Given the description of an element on the screen output the (x, y) to click on. 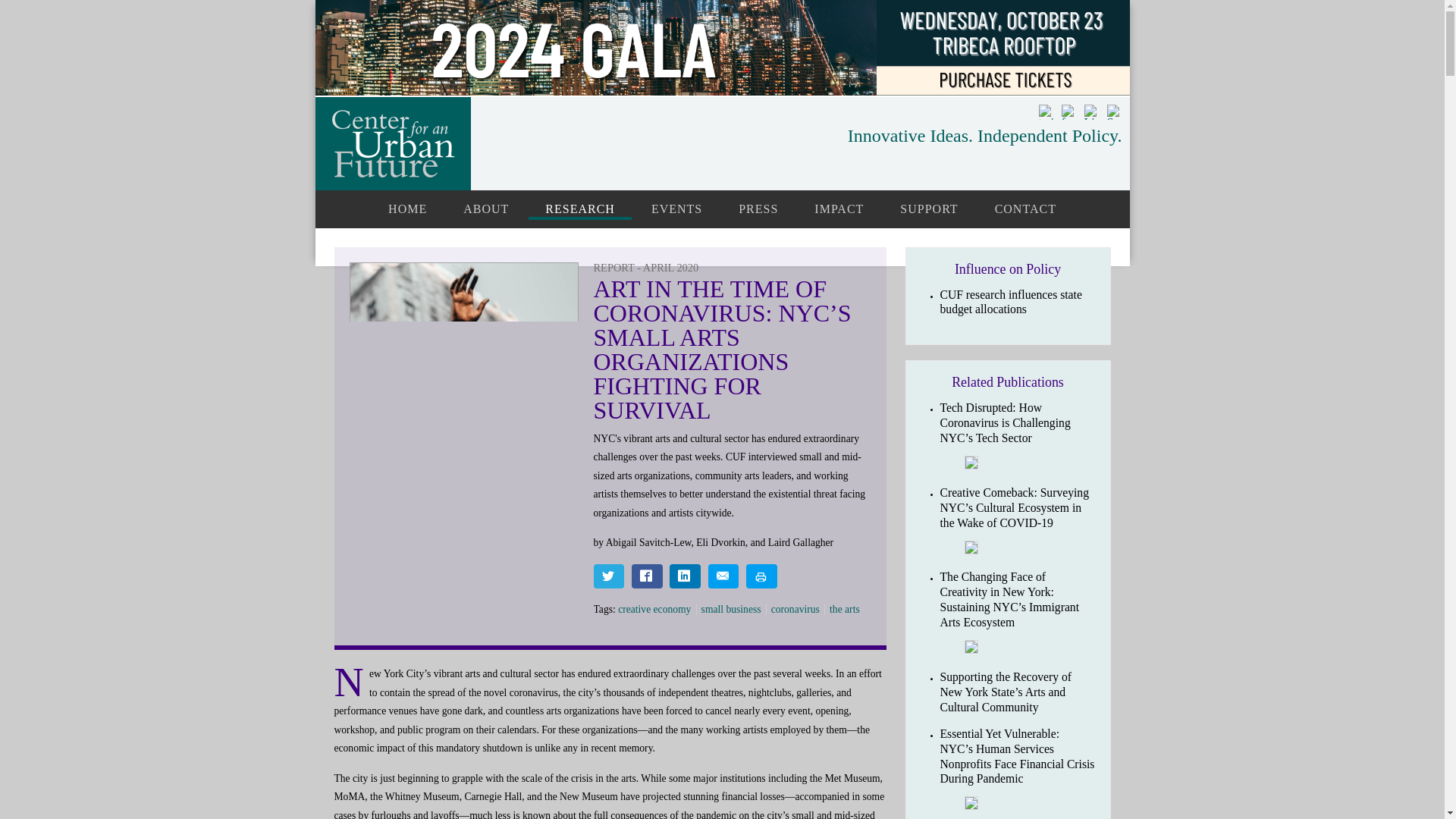
creative economy (657, 609)
RESEARCH (579, 207)
the arts (846, 609)
IMPACT (838, 205)
EVENTS (676, 205)
HOME (407, 205)
CONTACT (1025, 205)
PRESS (758, 205)
coronavirus (798, 609)
small business (734, 609)
